Given the description of an element on the screen output the (x, y) to click on. 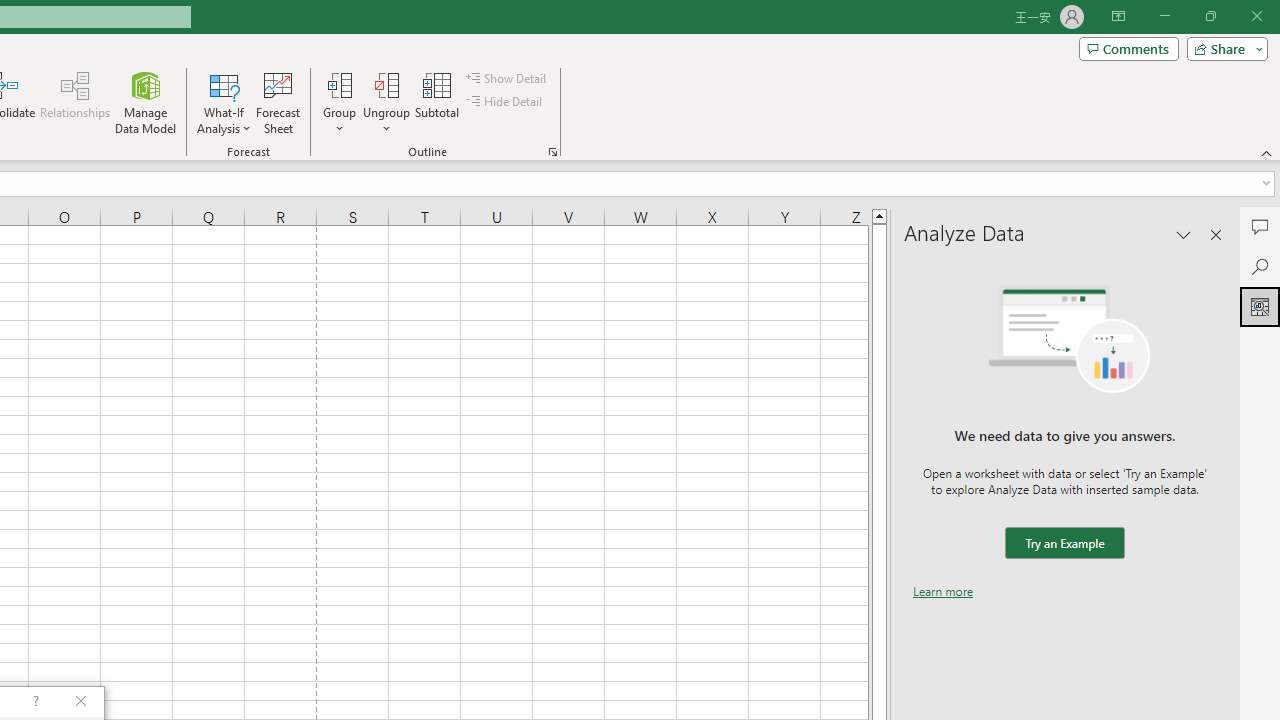
Manage Data Model (145, 102)
Learn more (943, 591)
We need data to give you answers. Try an Example (1064, 543)
What-If Analysis (223, 102)
Show Detail (507, 78)
Relationships (75, 102)
